Given the description of an element on the screen output the (x, y) to click on. 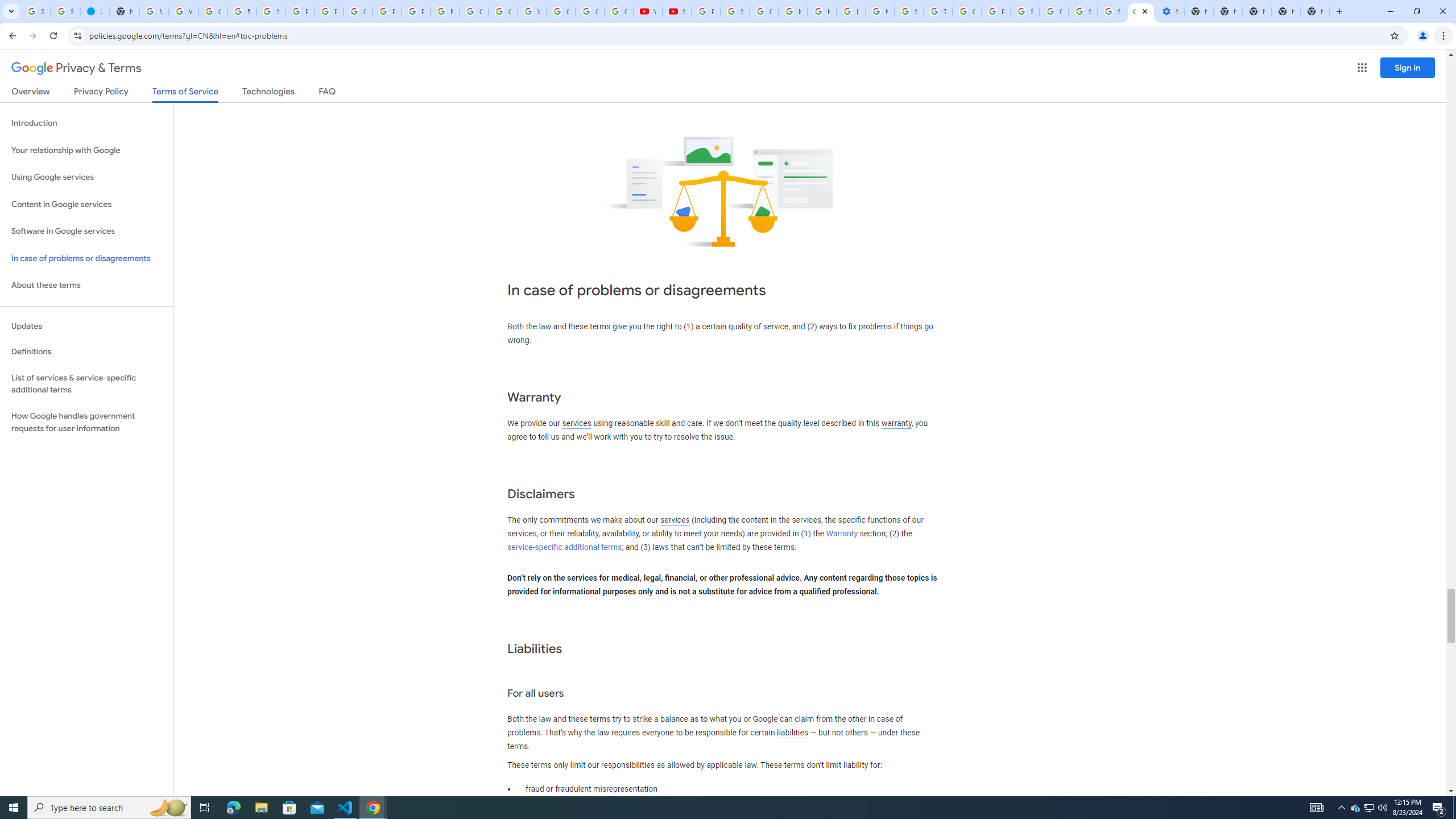
Sign in - Google Accounts (271, 11)
Content in Google services (86, 204)
List of services & service-specific additional terms (86, 383)
How Google handles government requests for user information (86, 422)
Definitions (86, 352)
Google Ads - Sign in (967, 11)
Sign in - Google Accounts (1025, 11)
liabilities (792, 732)
